Given the description of an element on the screen output the (x, y) to click on. 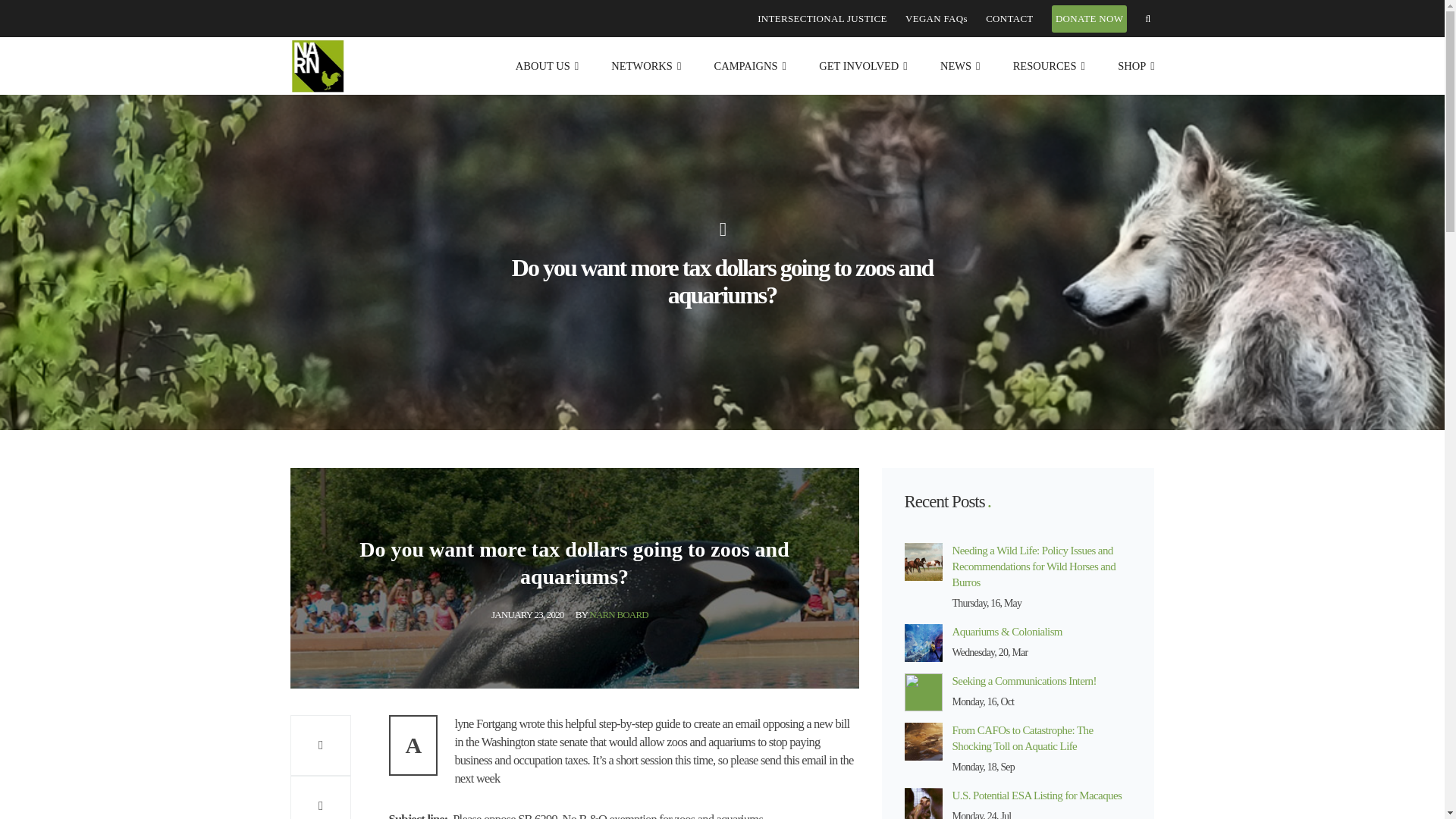
Date (527, 615)
Author (611, 615)
